Given the description of an element on the screen output the (x, y) to click on. 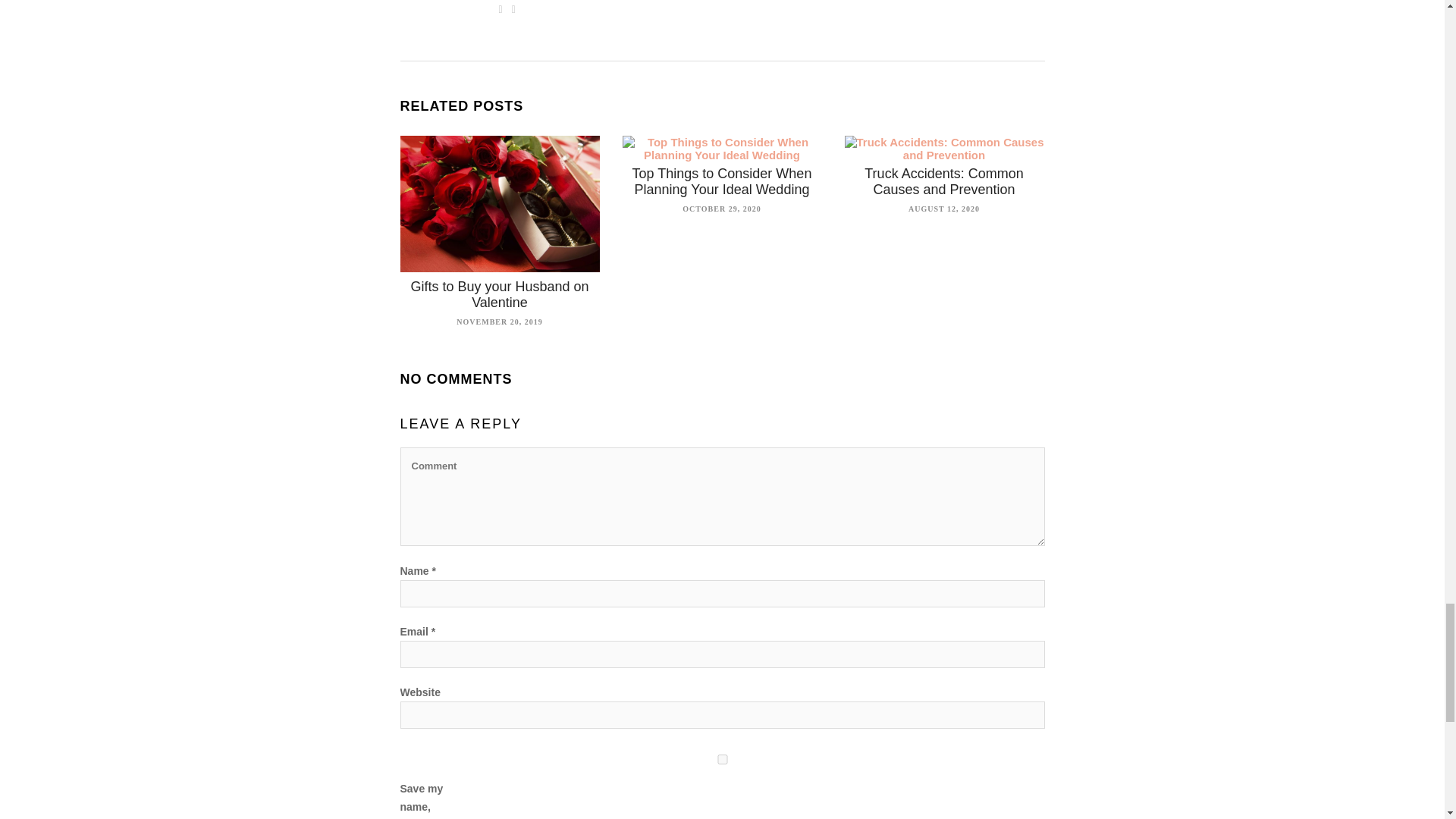
NOVEMBER 20, 2019 (499, 319)
Top Things to Consider When Planning Your Ideal Wedding (721, 181)
yes (722, 759)
OCTOBER 29, 2020 (721, 206)
AUGUST 12, 2020 (943, 206)
Truck Accidents: Common Causes and Prevention (943, 181)
Gifts to Buy your Husband on Valentine (499, 294)
